Given the description of an element on the screen output the (x, y) to click on. 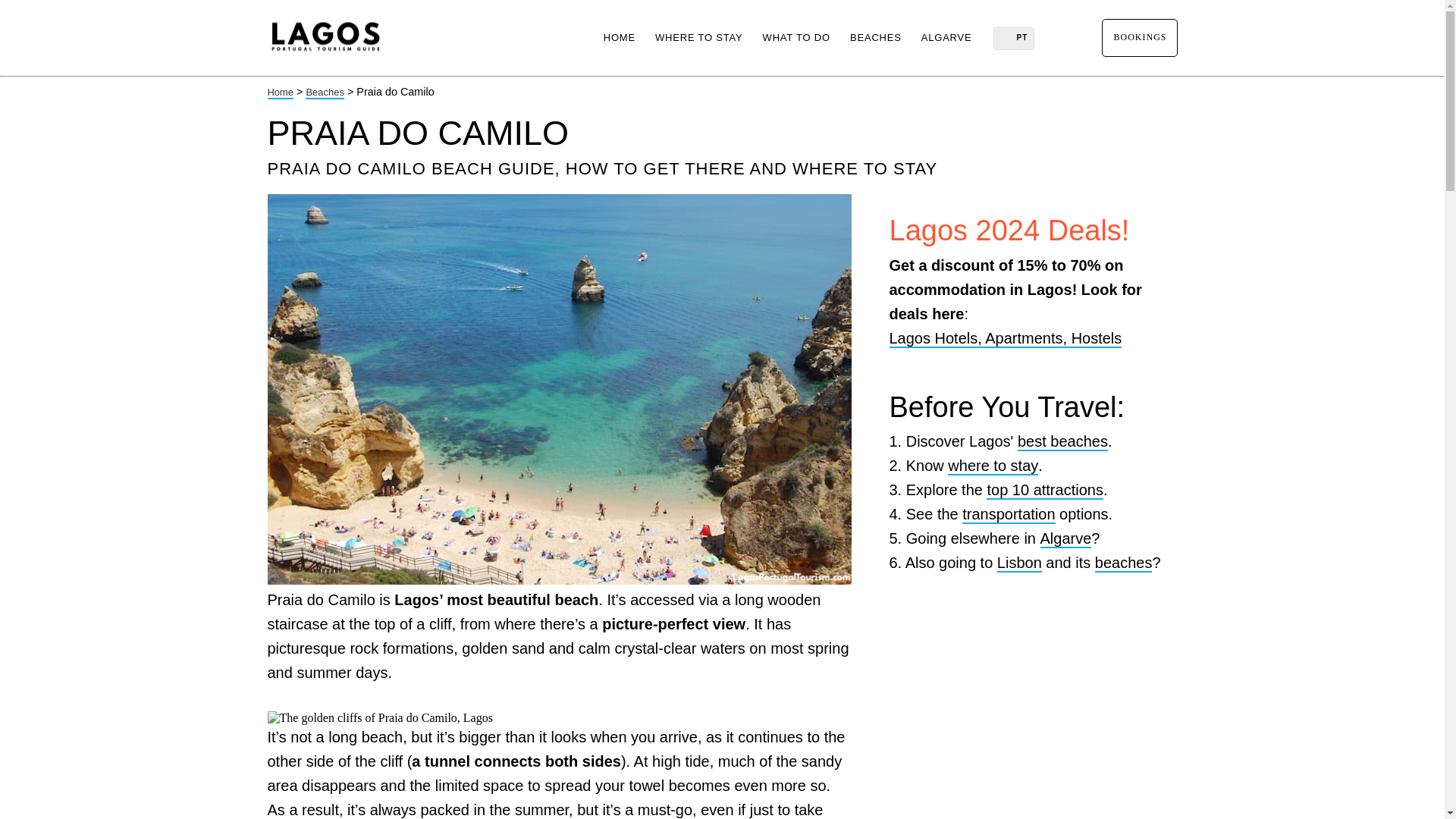
ALGARVE (946, 37)
WHAT TO DO (796, 37)
WHERE TO STAY (698, 37)
HOME (619, 37)
BEACHES (875, 37)
